Given the description of an element on the screen output the (x, y) to click on. 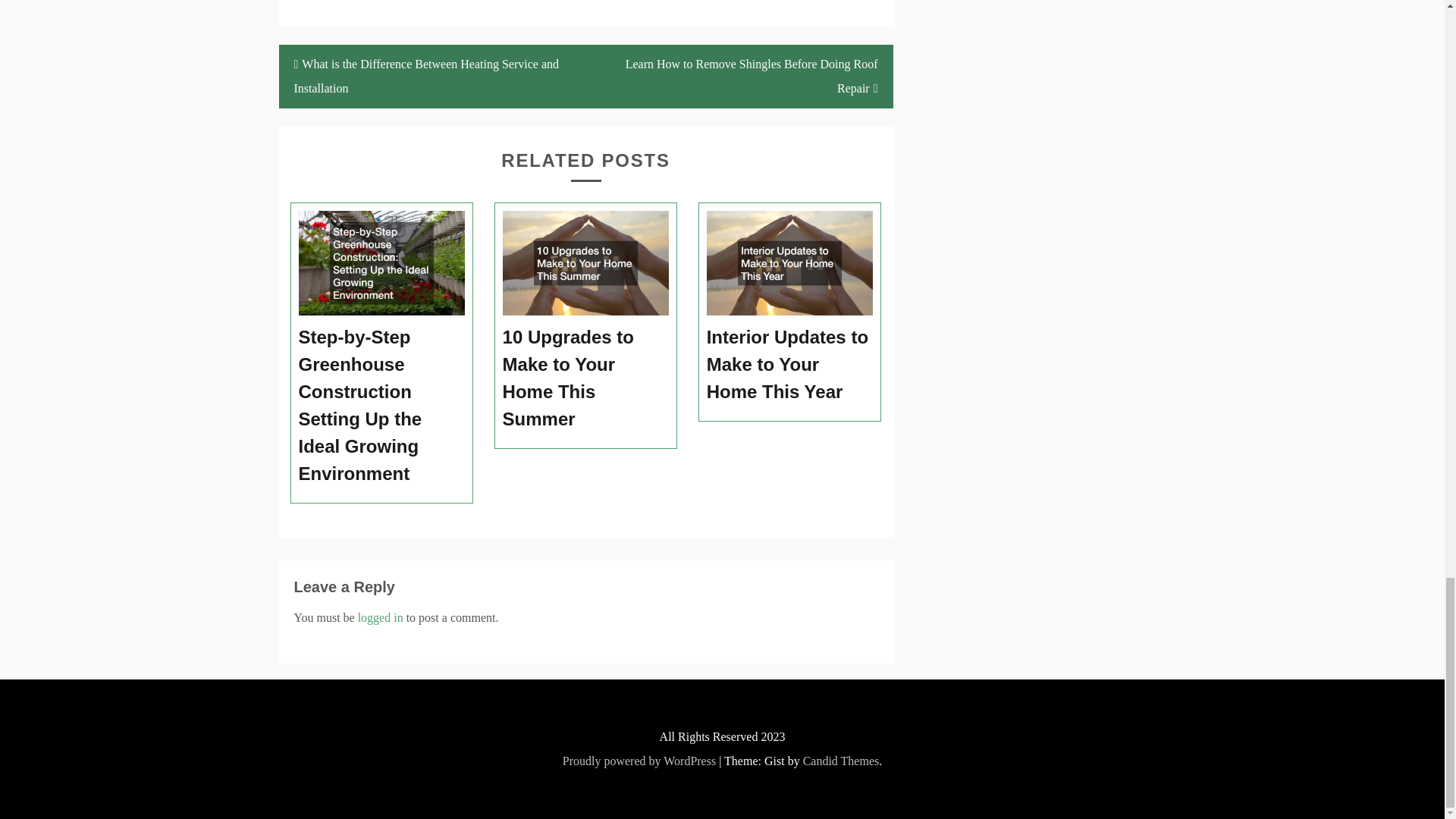
10 Upgrades to Make to Your Home This Summer (585, 378)
logged in (380, 617)
Learn How to Remove Shingles Before Doing Roof Repair (738, 76)
Interior Updates to Make to Your Home This Year (789, 364)
Candid Themes (841, 760)
Proudly powered by WordPress (639, 760)
